Given the description of an element on the screen output the (x, y) to click on. 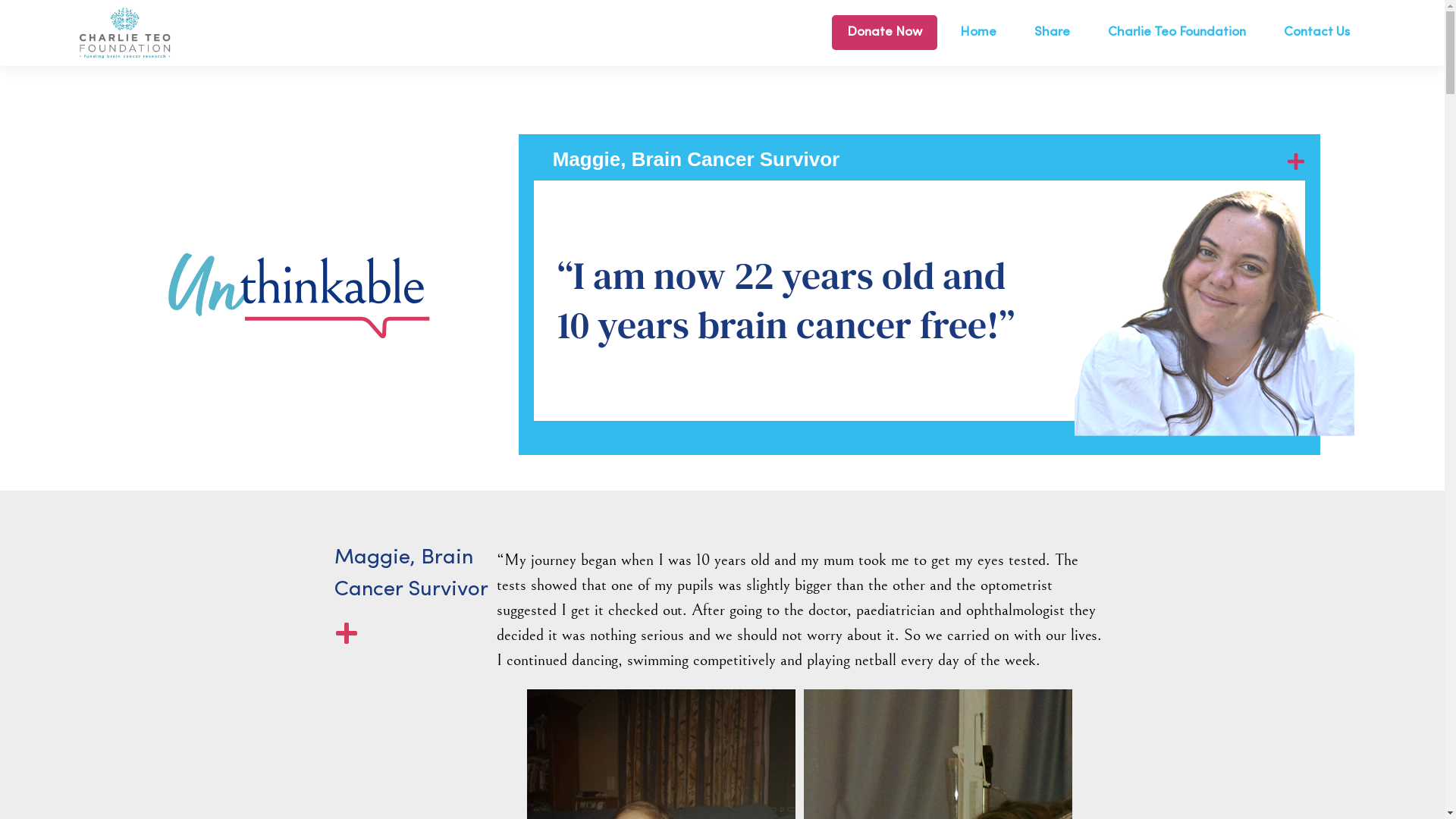
Home Element type: text (977, 32)
Charlie Teo Foundation Element type: text (1176, 32)
Share Element type: text (1052, 32)
Contact Us Element type: text (1316, 32)
Donate Now Element type: text (884, 32)
